Given the description of an element on the screen output the (x, y) to click on. 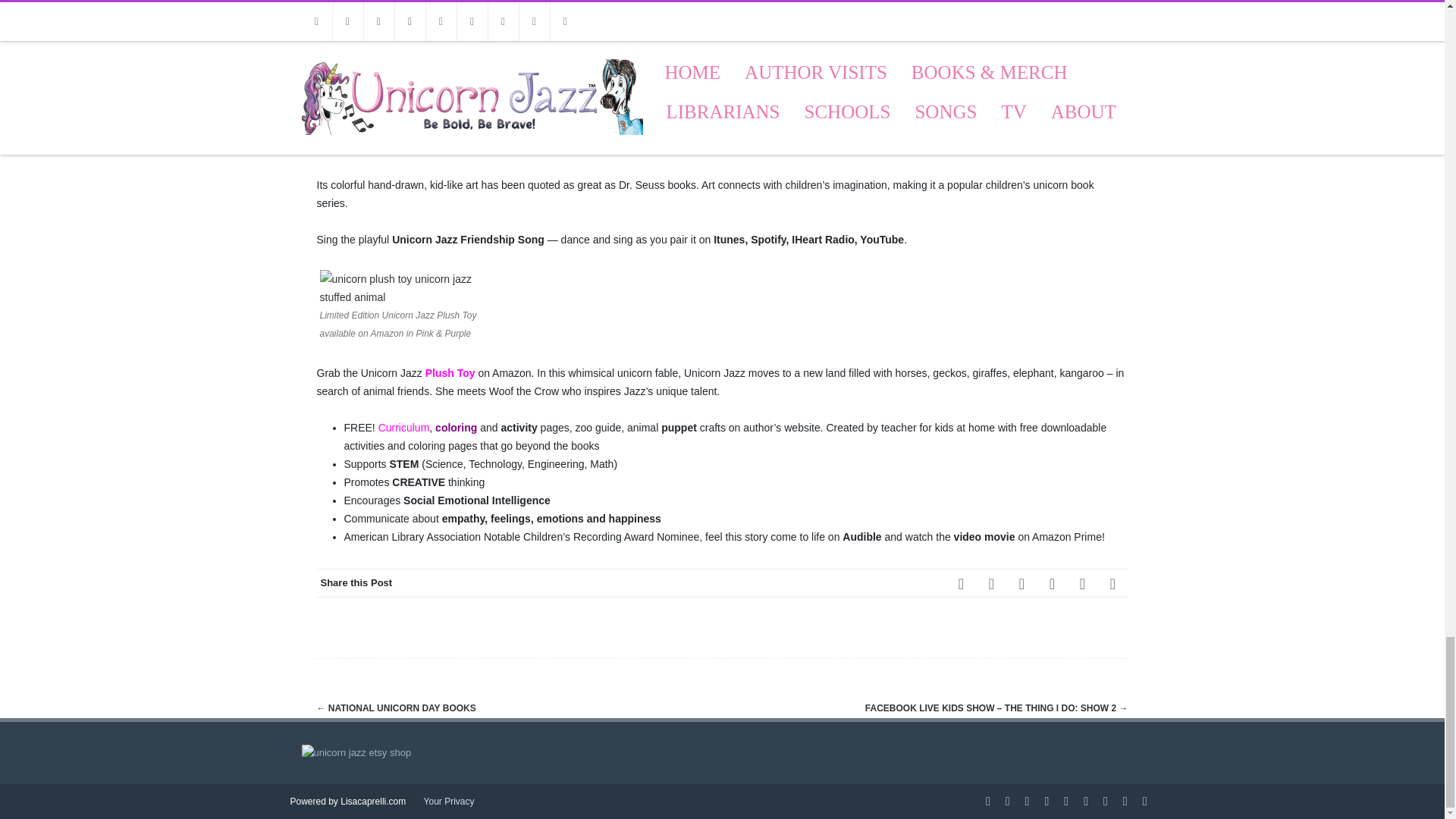
RSS (1082, 583)
Pinterest (1021, 583)
Facebook (961, 583)
LinkedIn (1051, 583)
Twitter (991, 583)
